Given the description of an element on the screen output the (x, y) to click on. 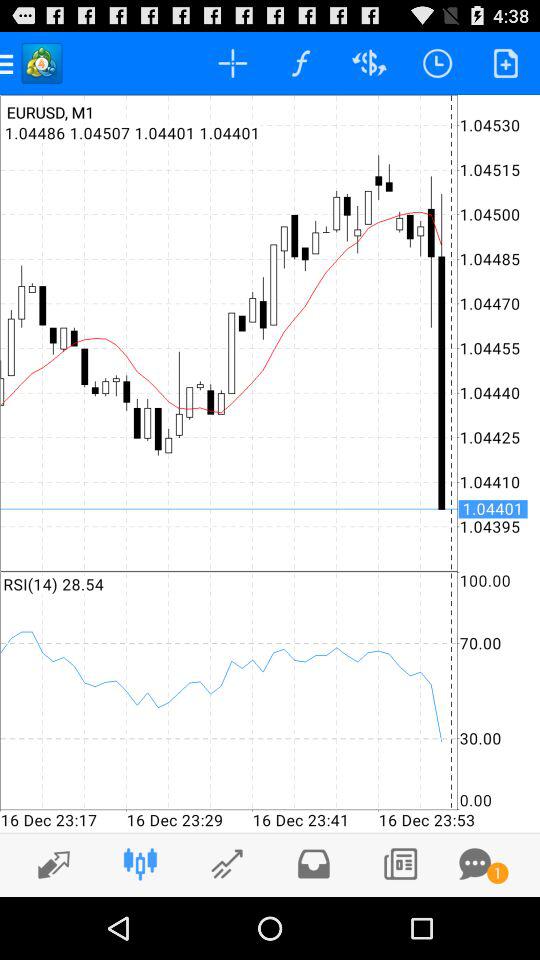
view messages (475, 864)
